Given the description of an element on the screen output the (x, y) to click on. 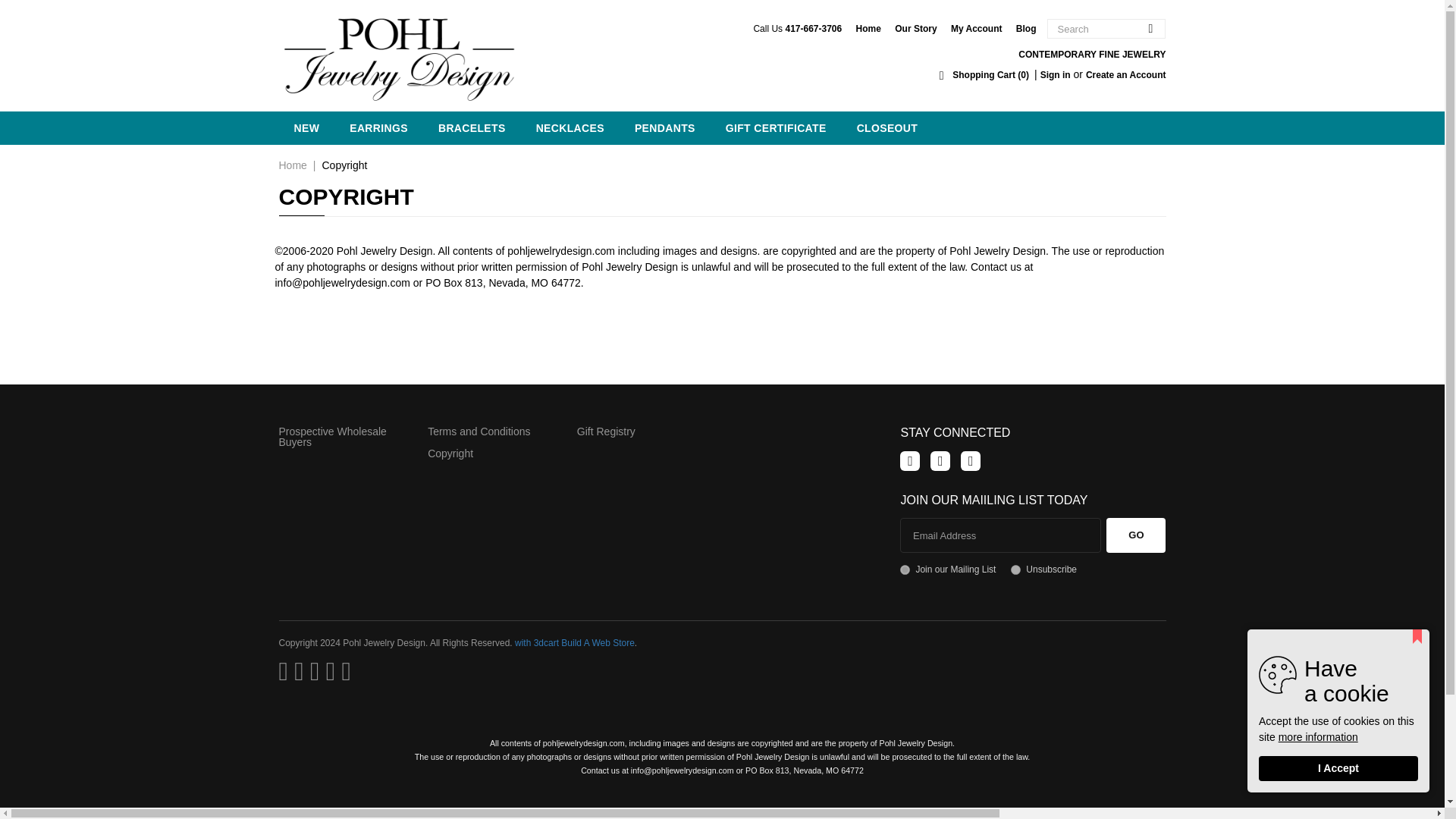
Follow Us on Twitter (940, 460)
Copyright (450, 453)
1 (904, 569)
BRACELETS (472, 127)
Sign in (1055, 74)
417-667-3706 (812, 28)
0 (1015, 569)
CLOSEOUT (887, 127)
Like Us on Facebook (909, 460)
Gift Registry (605, 431)
Blog (1026, 28)
GIFT CERTIFICATE (775, 127)
GO (1136, 534)
Create an Account (1126, 74)
